Given the description of an element on the screen output the (x, y) to click on. 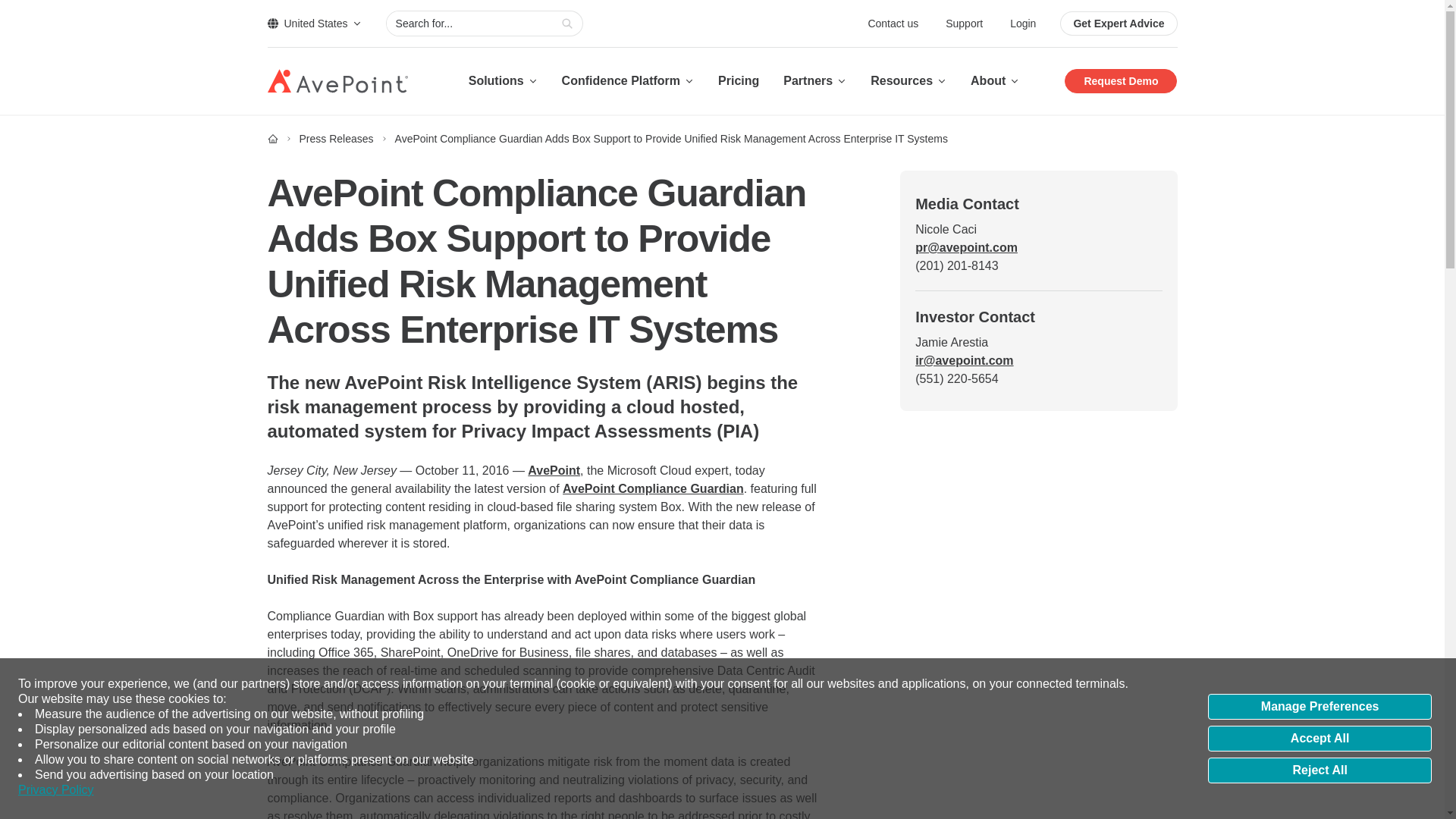
Search (566, 23)
Support (964, 23)
Manage Preferences (1319, 706)
Confidence Platform (628, 80)
Reject All (1319, 769)
Accept All (1319, 738)
Get Expert Advice (1117, 23)
Contact us (894, 23)
United States (313, 23)
Solutions (502, 80)
Privacy Policy (55, 789)
Login (1022, 23)
